Given the description of an element on the screen output the (x, y) to click on. 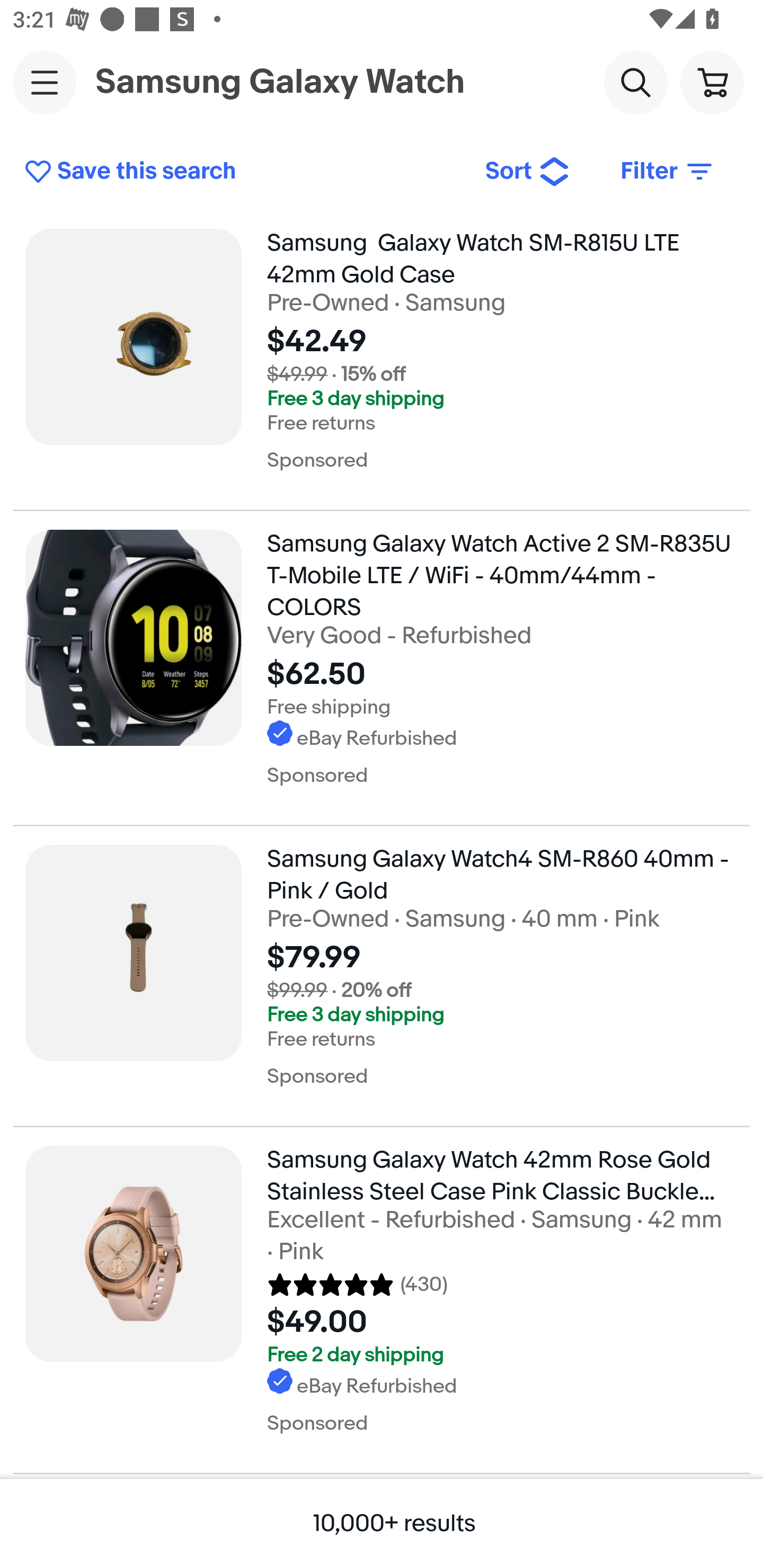
Main navigation, open (44, 82)
Search (635, 81)
Cart button shopping cart (711, 81)
Save this search (241, 171)
Sort (527, 171)
Filter (667, 171)
